Given the description of an element on the screen output the (x, y) to click on. 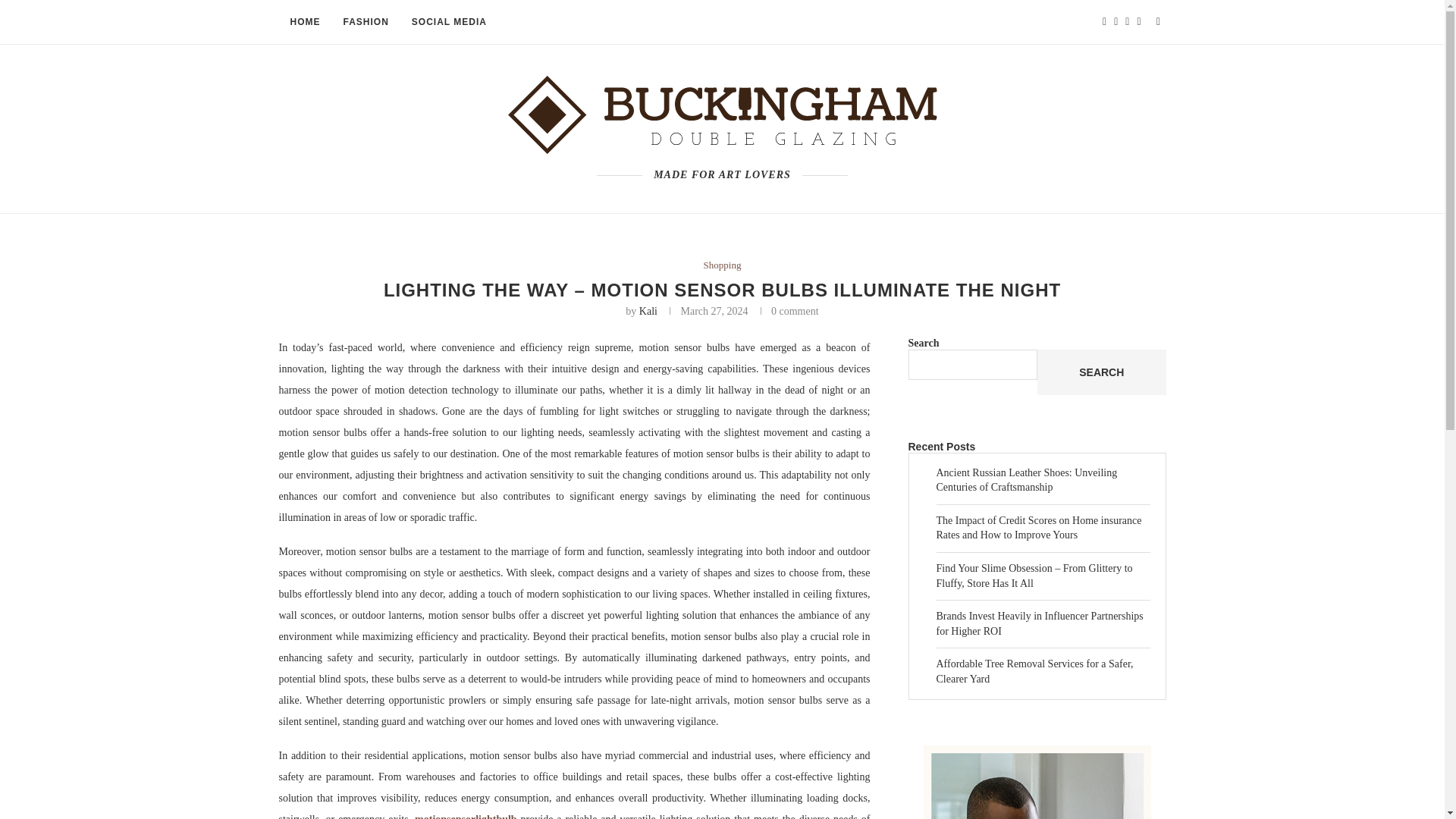
HOME (305, 22)
FASHION (365, 22)
motionsensorlightbulb (465, 816)
Kali (648, 310)
Shopping (722, 265)
SOCIAL MEDIA (448, 22)
